Given the description of an element on the screen output the (x, y) to click on. 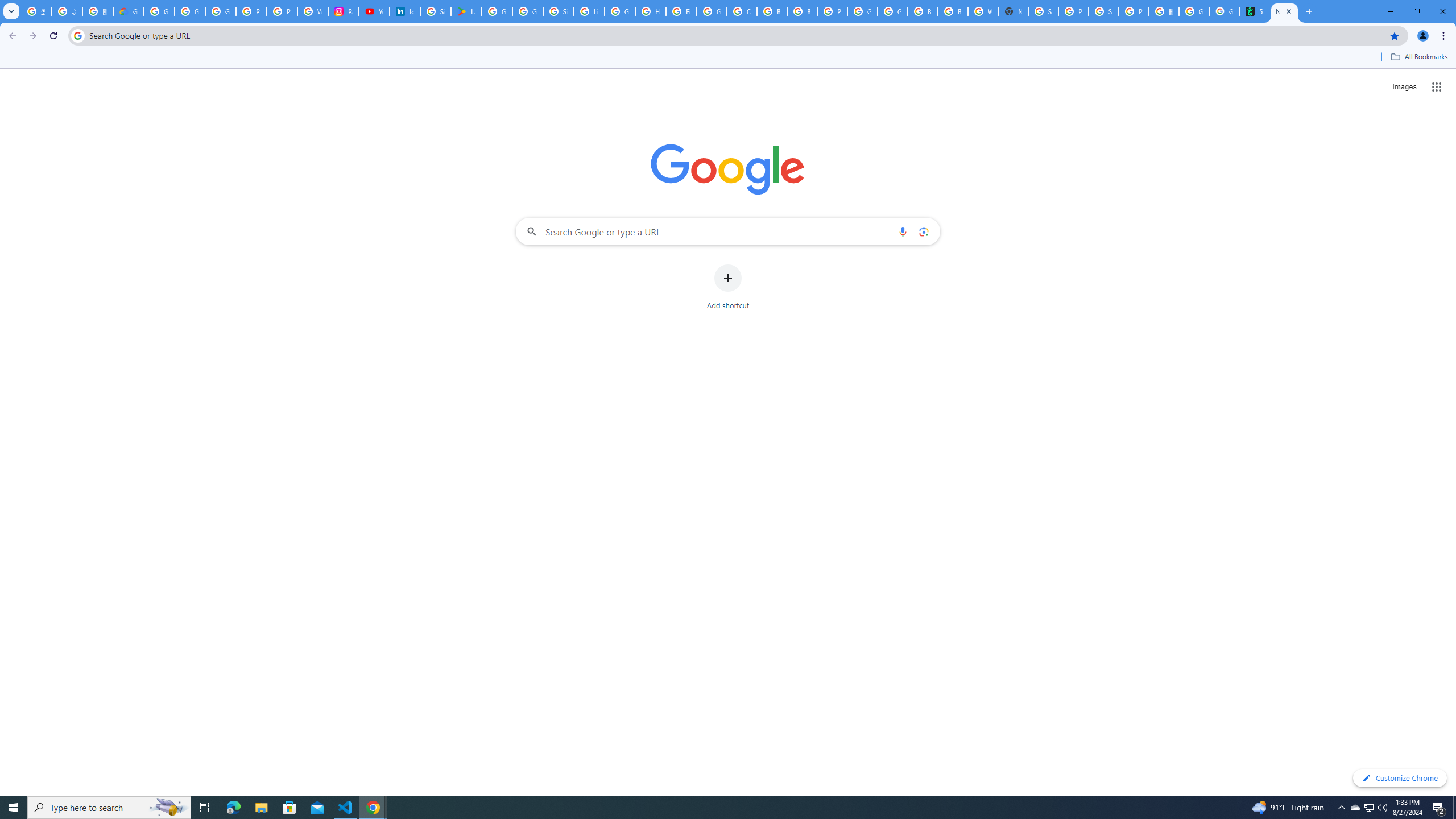
Privacy Help Center - Policies Help (251, 11)
Google Cloud Platform (892, 11)
New Tab (1283, 11)
